Given the description of an element on the screen output the (x, y) to click on. 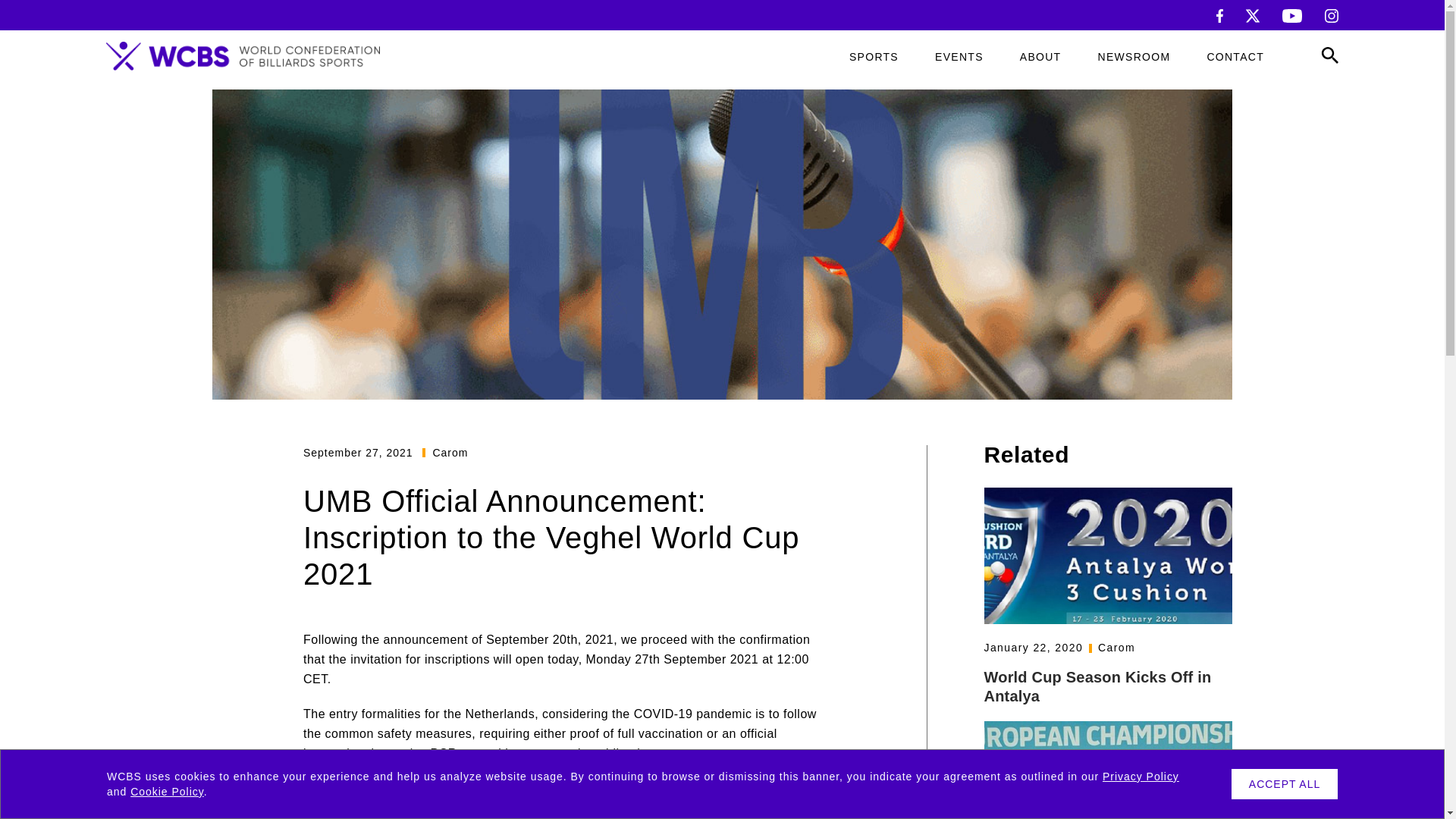
SPORTS (873, 56)
EVENTS (959, 56)
logo-header (243, 55)
CONTACT (1235, 56)
ABOUT (1040, 56)
NEWSROOM (1133, 56)
